Given the description of an element on the screen output the (x, y) to click on. 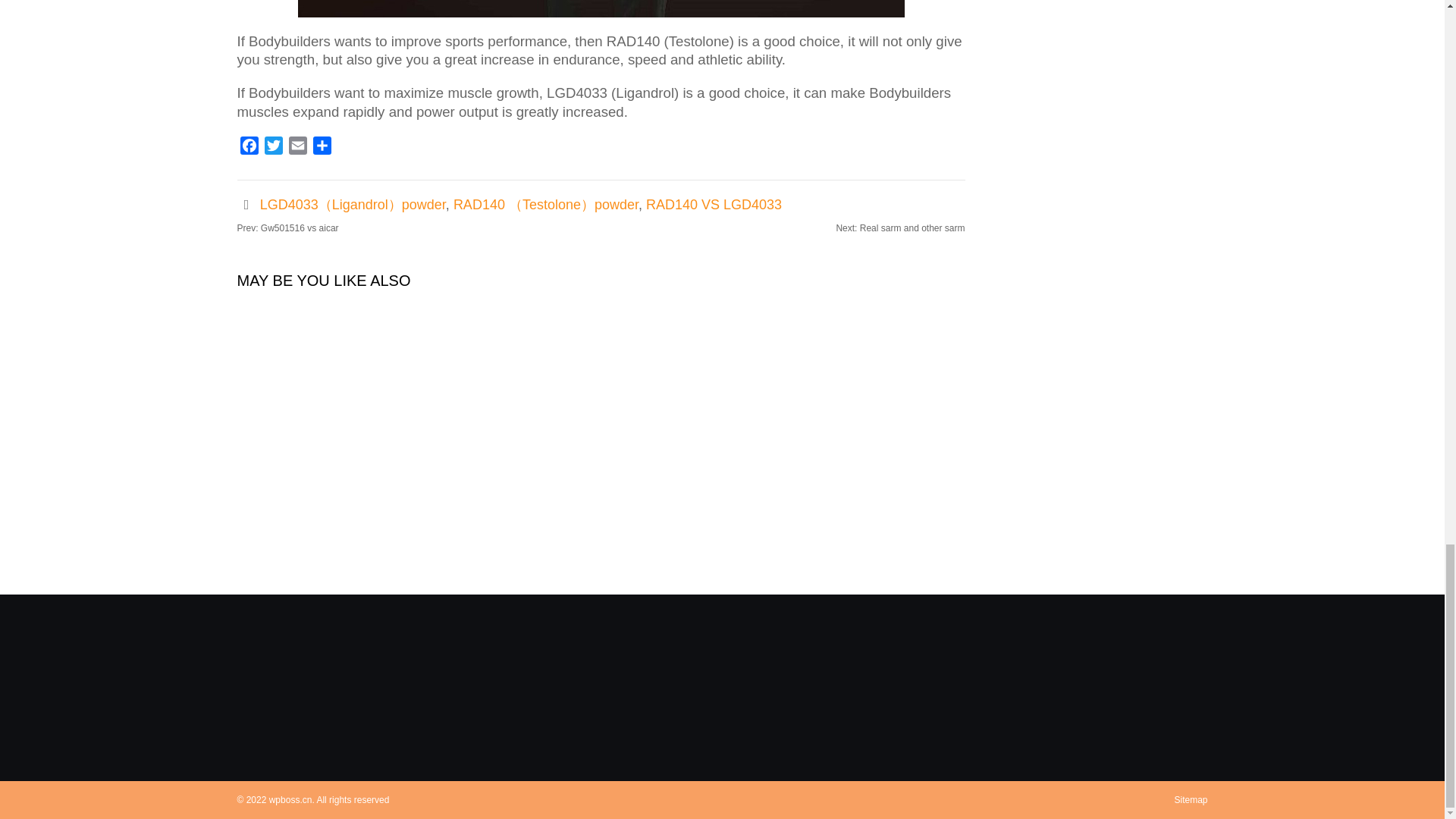
Email (296, 147)
Twitter (272, 147)
Facebook (247, 147)
Facebook (247, 147)
Twitter (272, 147)
